Given the description of an element on the screen output the (x, y) to click on. 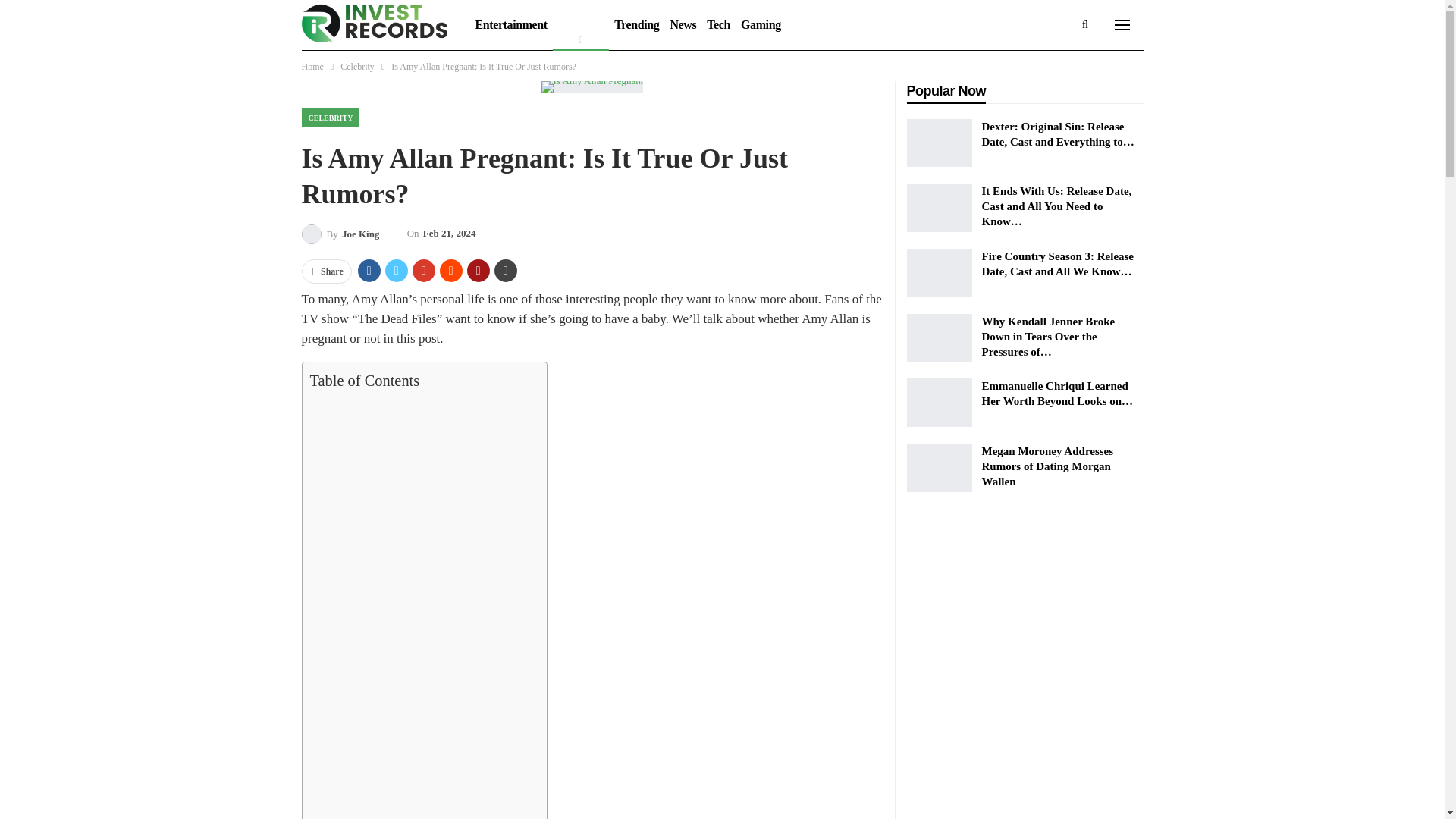
Browse Author Articles (340, 233)
Trending (635, 24)
CELEBRITY (330, 117)
Celebrity (357, 66)
Gaming (760, 24)
Celebrity (580, 24)
By Joe King (340, 233)
Home (312, 66)
Entertainment (511, 24)
